Given the description of an element on the screen output the (x, y) to click on. 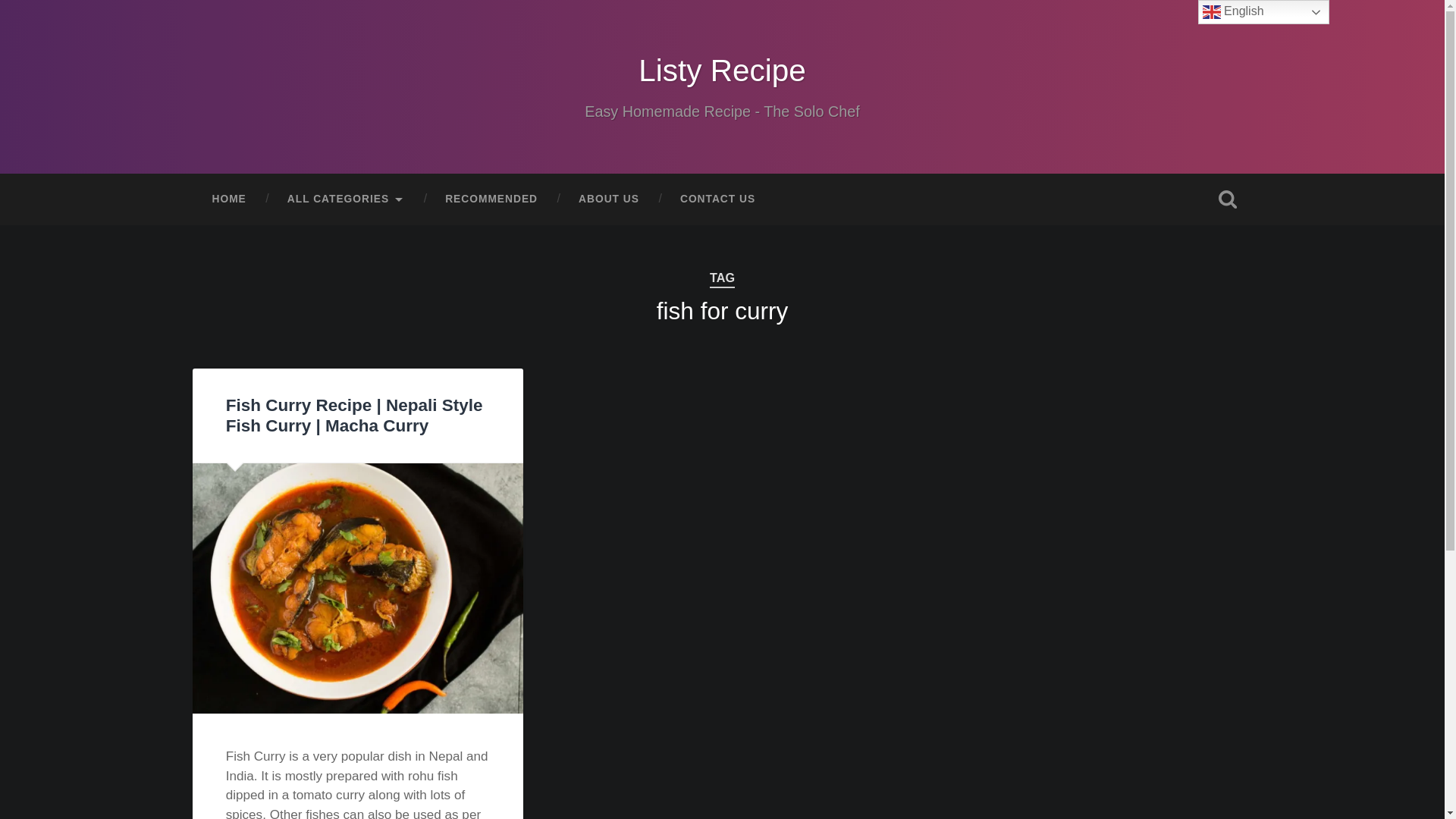
HOME (228, 199)
ALL CATEGORIES (345, 199)
RECOMMENDED (491, 199)
CONTACT US (717, 199)
ABOUT US (608, 199)
Listy Recipe (722, 70)
